Given the description of an element on the screen output the (x, y) to click on. 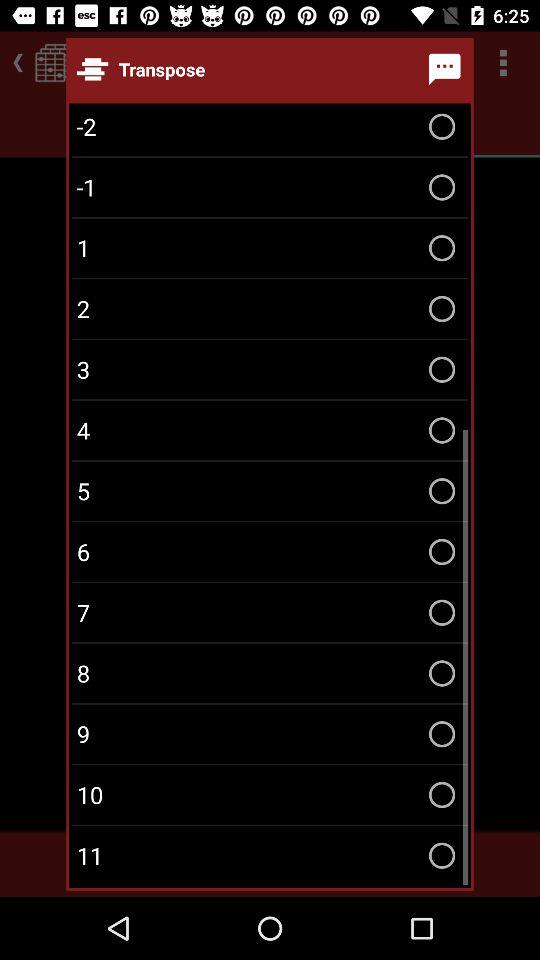
flip to 6 item (269, 551)
